Given the description of an element on the screen output the (x, y) to click on. 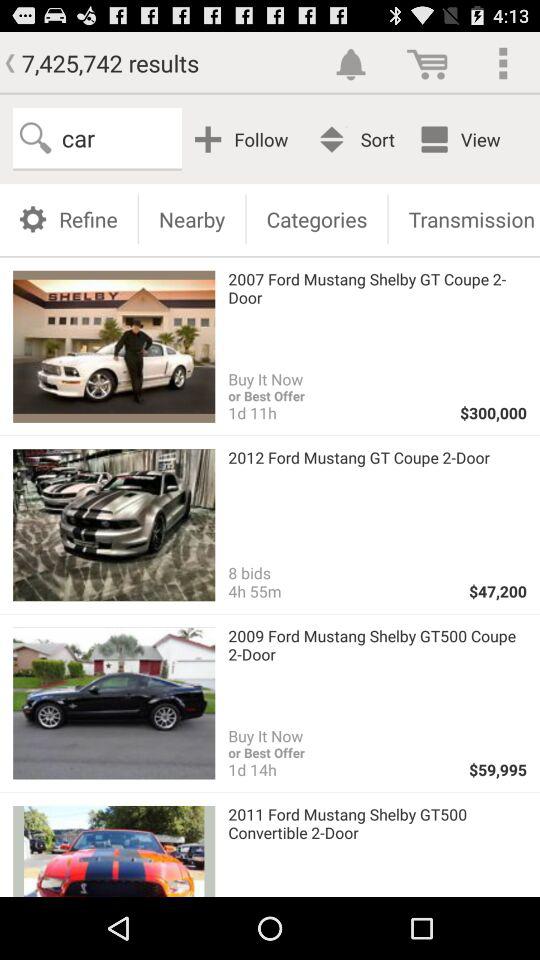
choose the refine (68, 218)
